Given the description of an element on the screen output the (x, y) to click on. 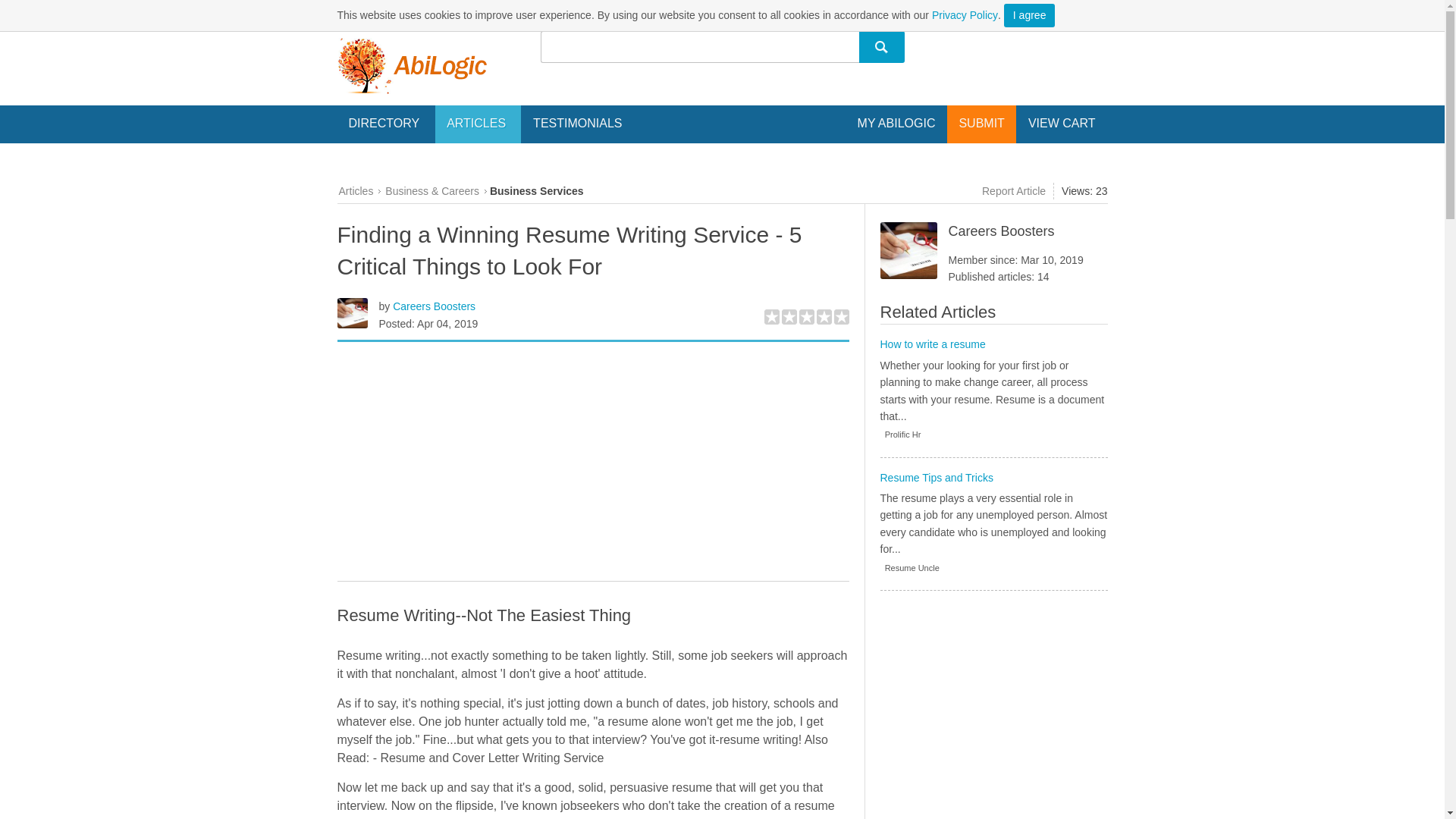
How to write a resume (932, 344)
Articles (354, 191)
Shopping cart (1061, 123)
MY ABILOGIC (896, 123)
Free Article Directory (411, 65)
Submit an Article (980, 123)
SUBMIT (980, 123)
ARTICLES (478, 123)
 Report Article (1011, 191)
VIEW CART (1061, 123)
Resume Tips and Tricks (935, 477)
DIRECTORY (384, 123)
TESTIMONIALS (577, 123)
Privacy Policy (964, 15)
Careers Boosters (434, 306)
